Given the description of an element on the screen output the (x, y) to click on. 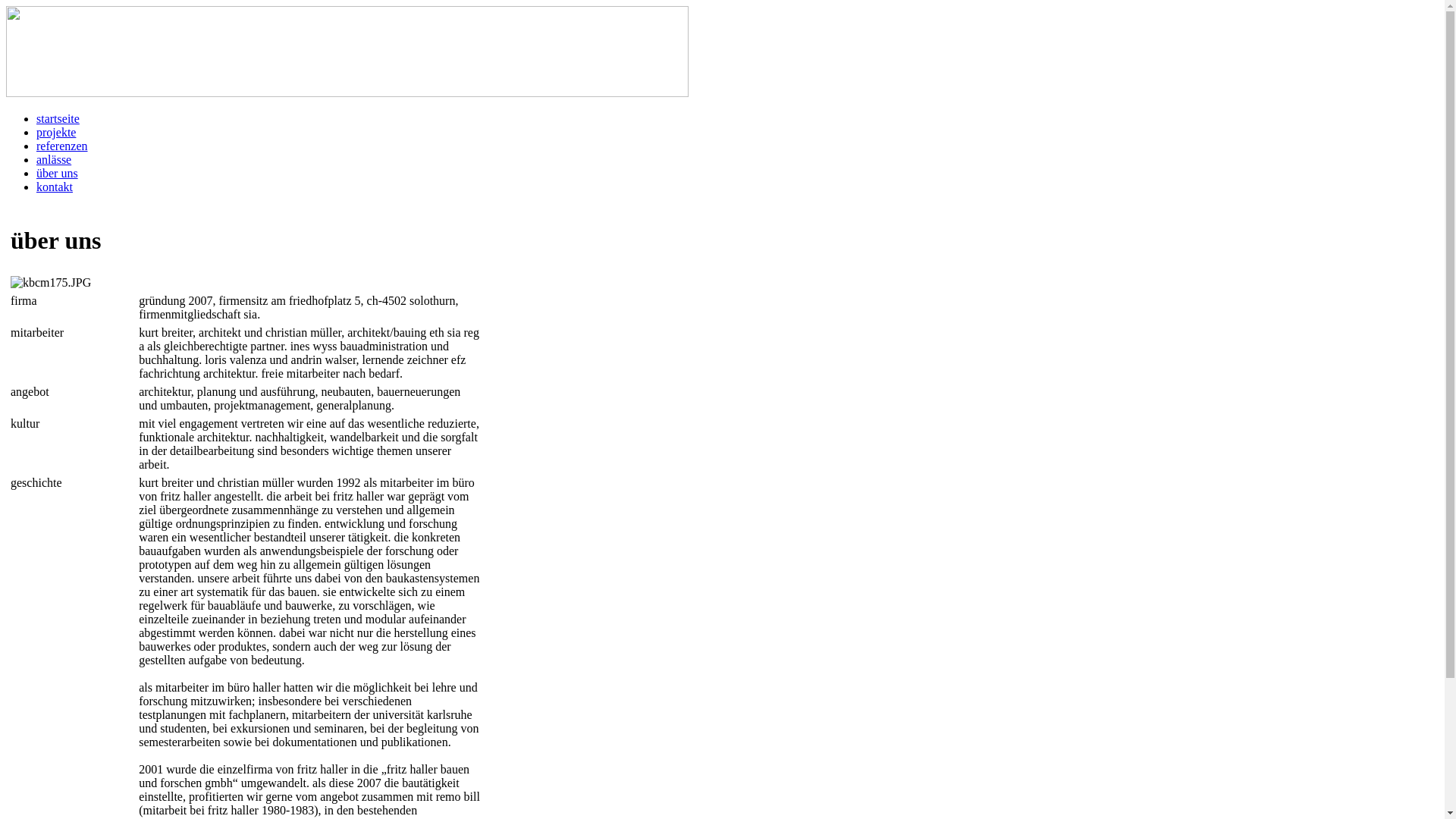
kontakt Element type: text (54, 186)
referenzen Element type: text (61, 145)
projekte Element type: text (55, 131)
startseite Element type: text (57, 118)
